Given the description of an element on the screen output the (x, y) to click on. 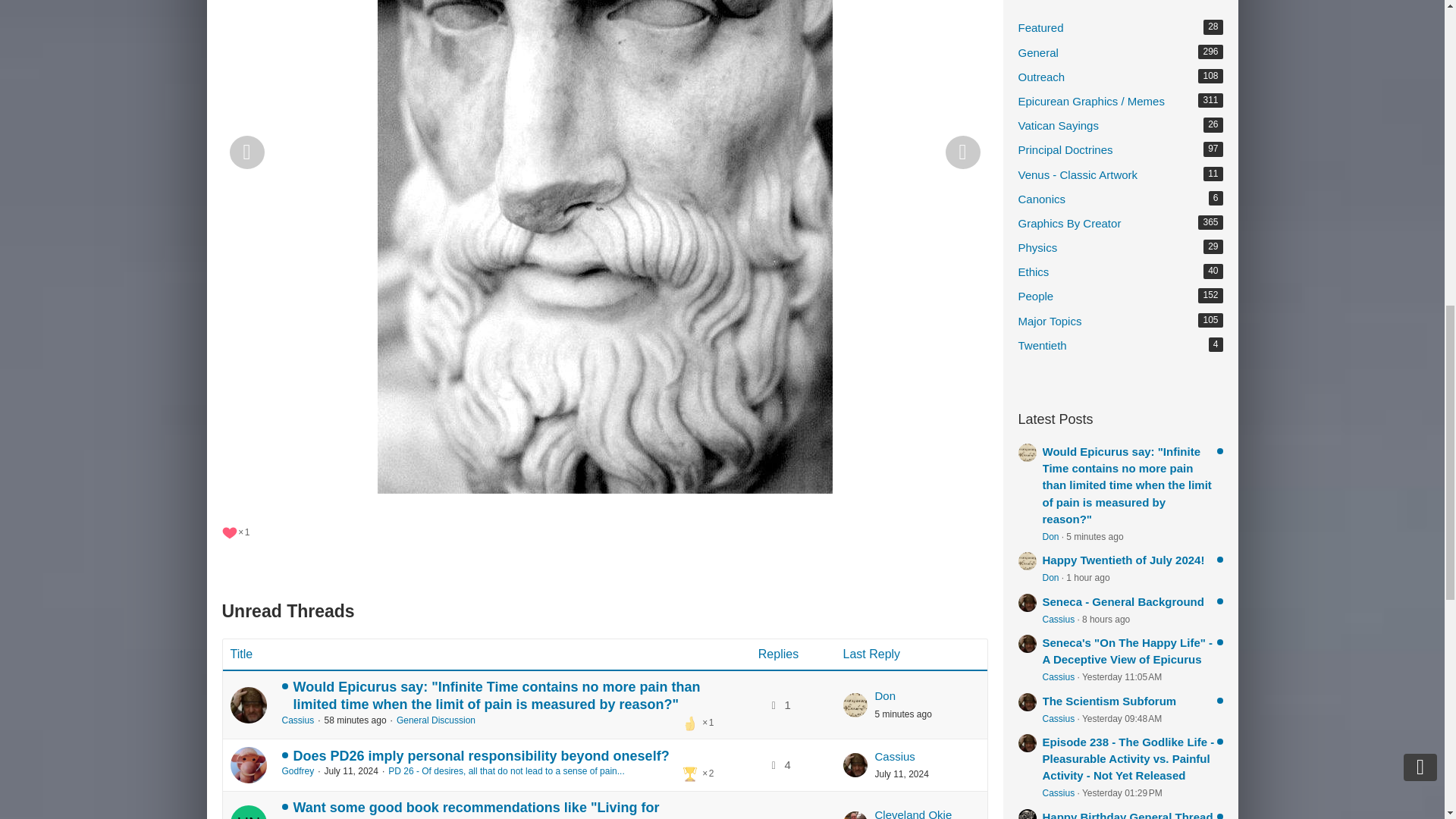
Double-Click to Mark This Thread Read (248, 764)
Double-Click to Mark This Thread Read (248, 705)
Double-Click to Mark This Thread Read (248, 812)
